Given the description of an element on the screen output the (x, y) to click on. 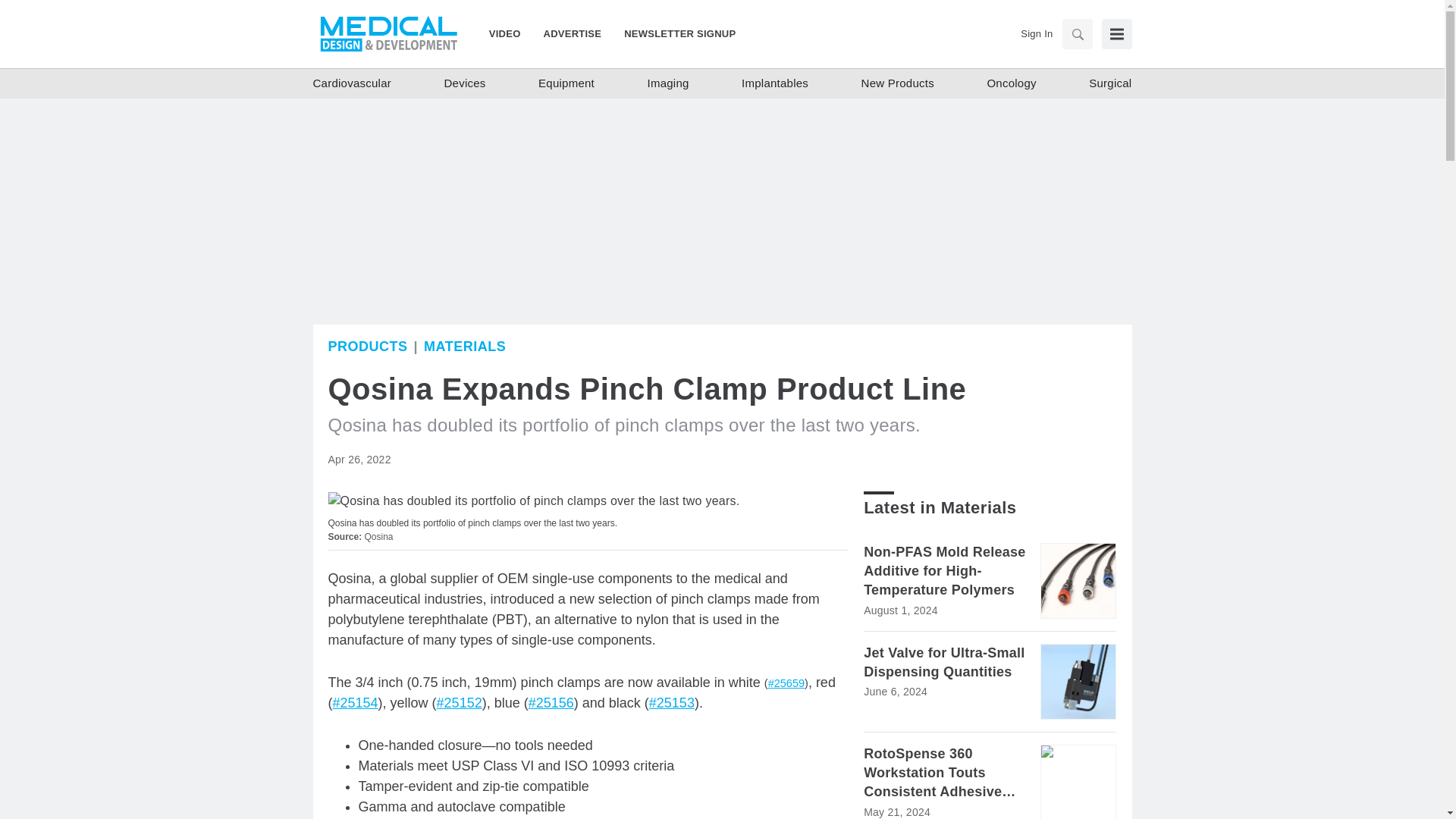
NEWSLETTER SIGNUP (673, 33)
Materials (464, 346)
Surgical (1110, 83)
VIDEO (510, 33)
Oncology (1011, 83)
ADVERTISE (572, 33)
Imaging (667, 83)
Cardiovascular (352, 83)
New Products (897, 83)
Devices (465, 83)
Implantables (774, 83)
Products (367, 346)
Sign In (1036, 33)
Equipment (566, 83)
